Given the description of an element on the screen output the (x, y) to click on. 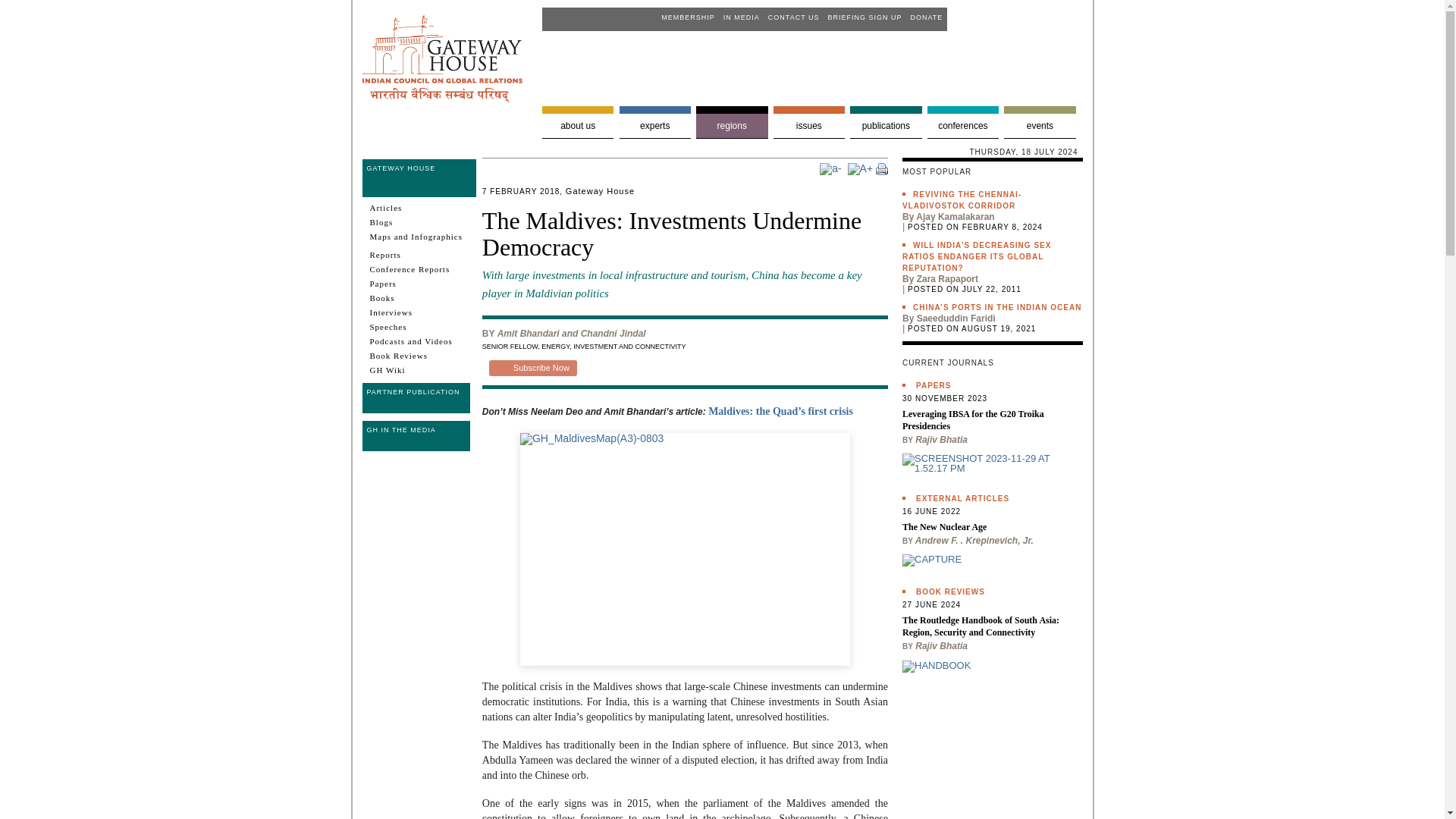
Print This Post (882, 171)
experts (655, 122)
View all posts in Book Reviews  (950, 592)
View all posts in External Articles  (962, 498)
Reviving the Chennai-Vladivostok Corridor (962, 199)
View all posts in Papers (932, 385)
Print This Post (882, 168)
IN MEDIA (739, 17)
go to home (442, 98)
Increase Font Size (860, 168)
issues (808, 122)
BRIEFING SIGN UP (863, 17)
Posts by Amit Bhandari (528, 333)
MEMBERSHIP (686, 17)
Decrease Font Size (830, 168)
